Given the description of an element on the screen output the (x, y) to click on. 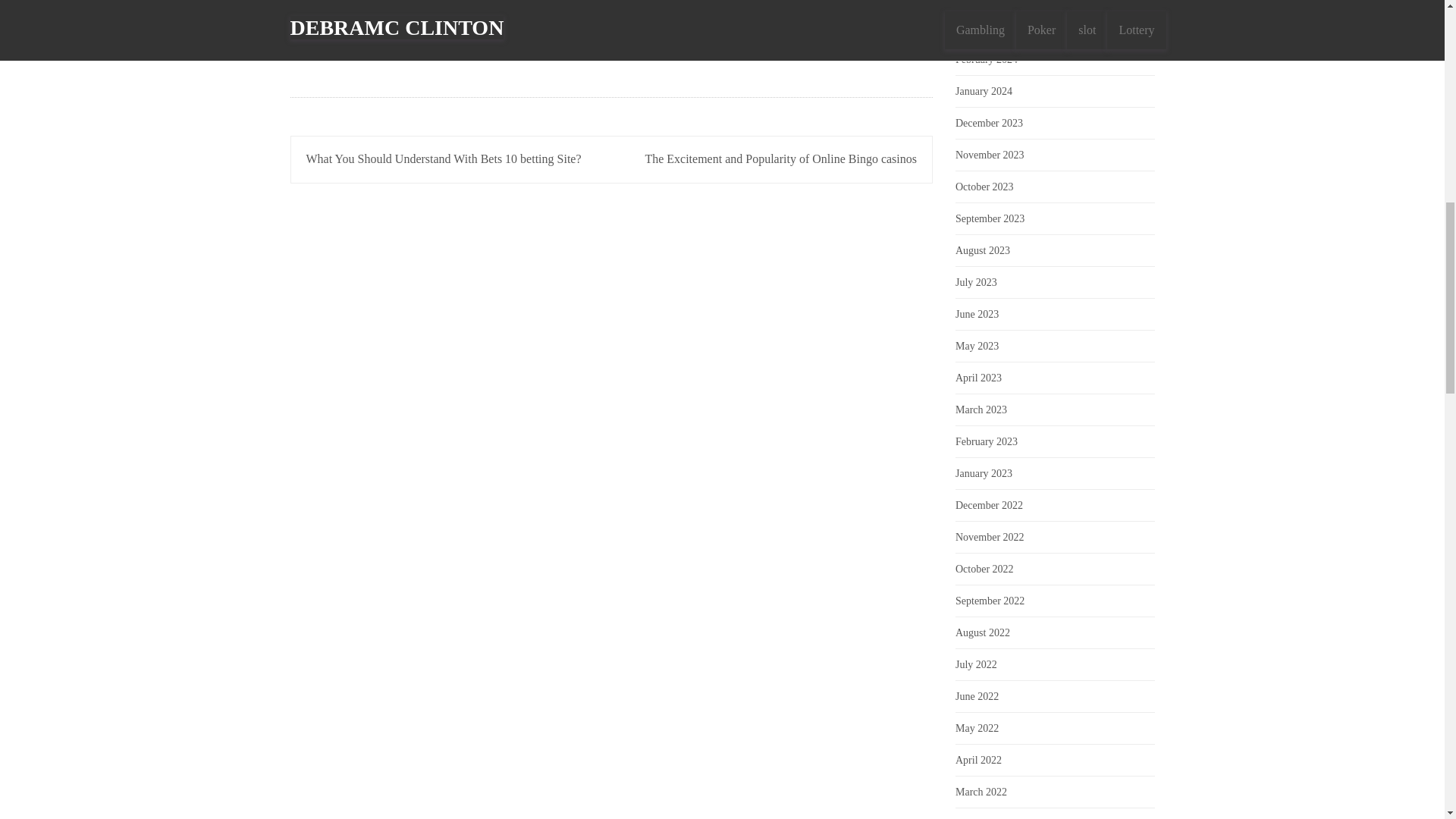
January 2023 (983, 473)
March 2023 (981, 409)
September 2023 (990, 218)
May 2023 (976, 346)
December 2023 (989, 122)
December 2022 (989, 505)
October 2022 (984, 568)
The Excitement and Popularity of Online Bingo casinos (781, 158)
July 2023 (976, 282)
January 2024 (983, 91)
